Given the description of an element on the screen output the (x, y) to click on. 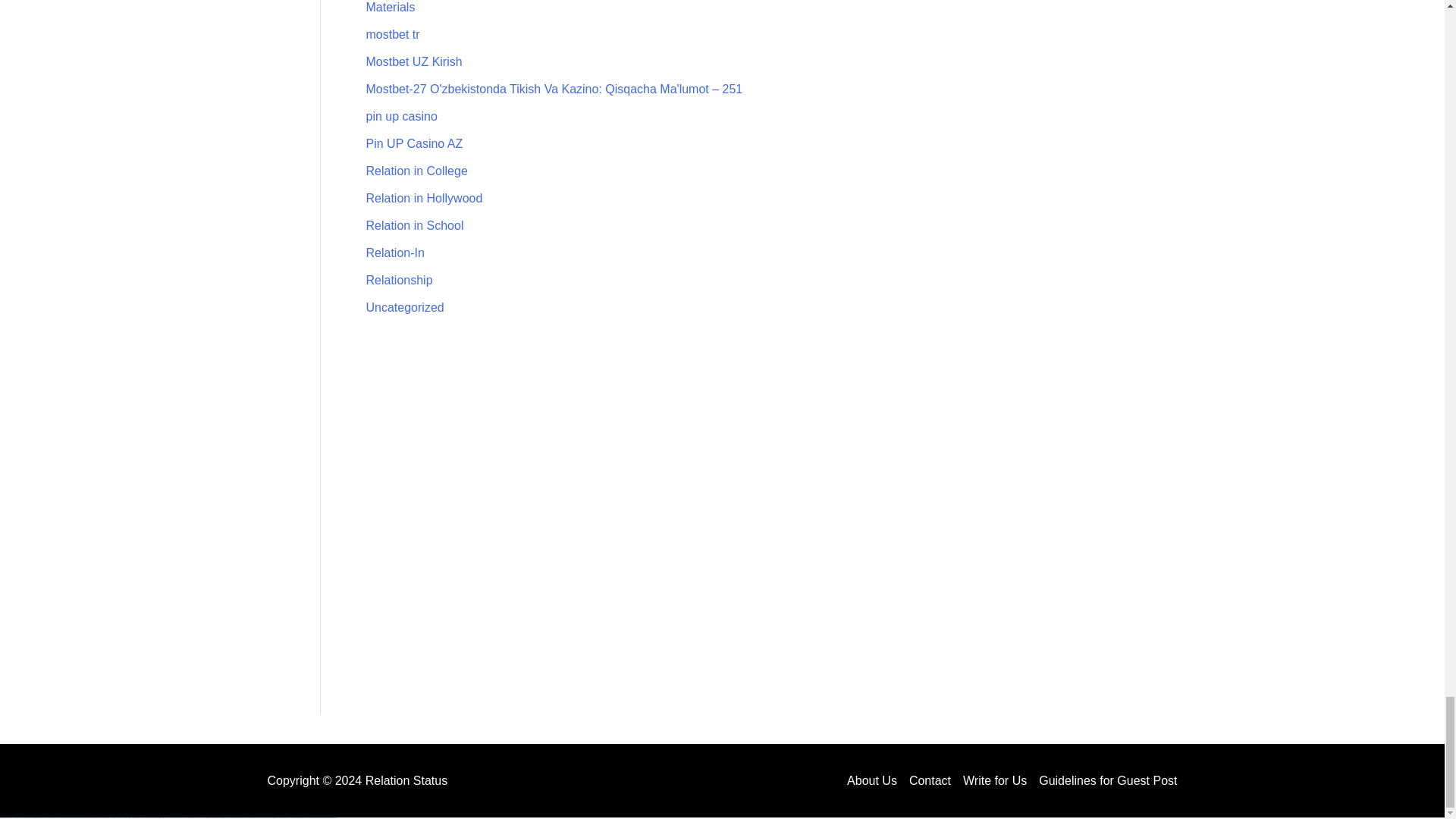
Advertisement (745, 631)
Advertisement (745, 434)
